Given the description of an element on the screen output the (x, y) to click on. 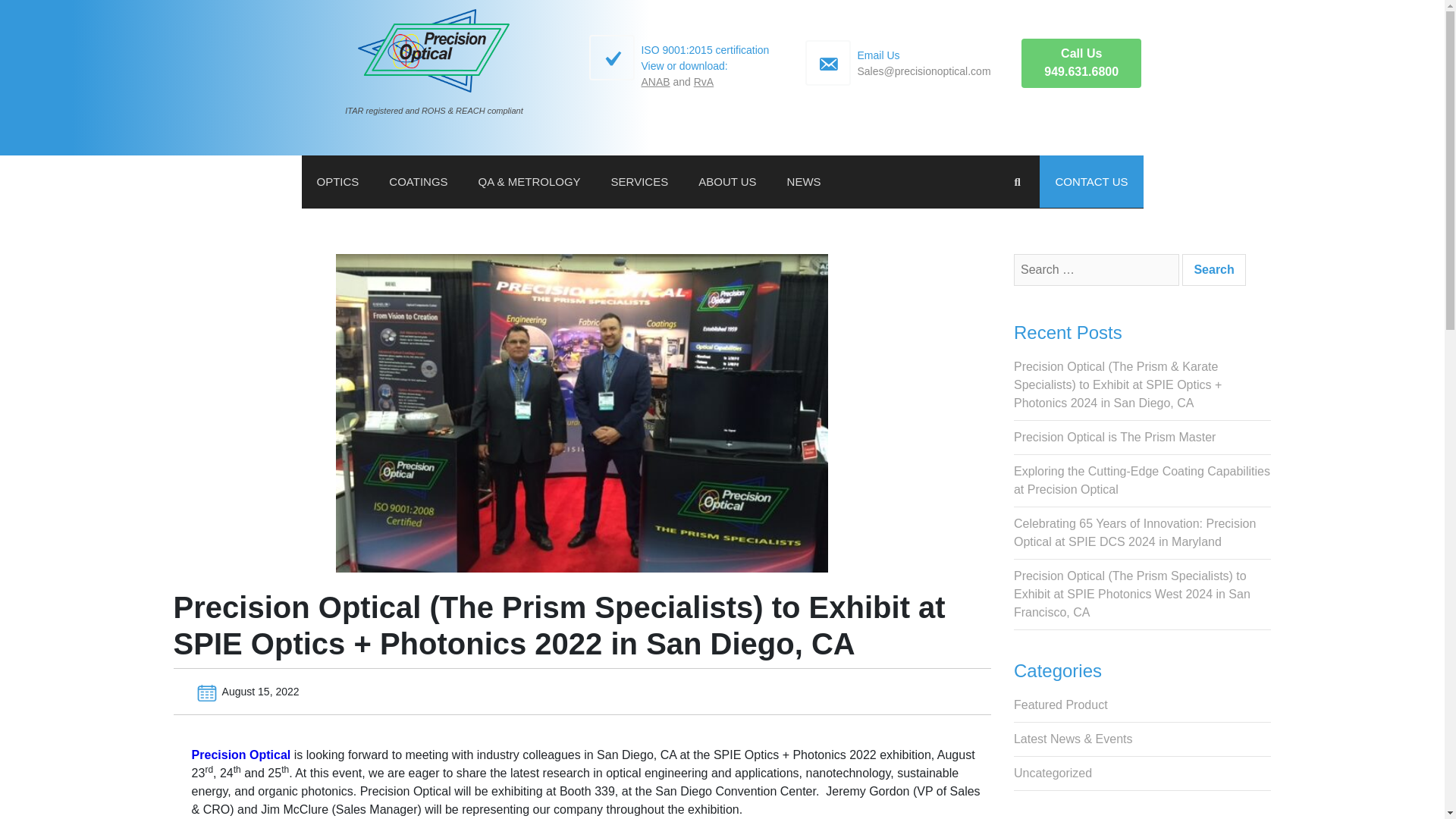
RvA (703, 81)
OPTICS (337, 181)
Search (1213, 269)
ANAB (1081, 62)
Search (654, 81)
COATINGS (1213, 269)
